Given the description of an element on the screen output the (x, y) to click on. 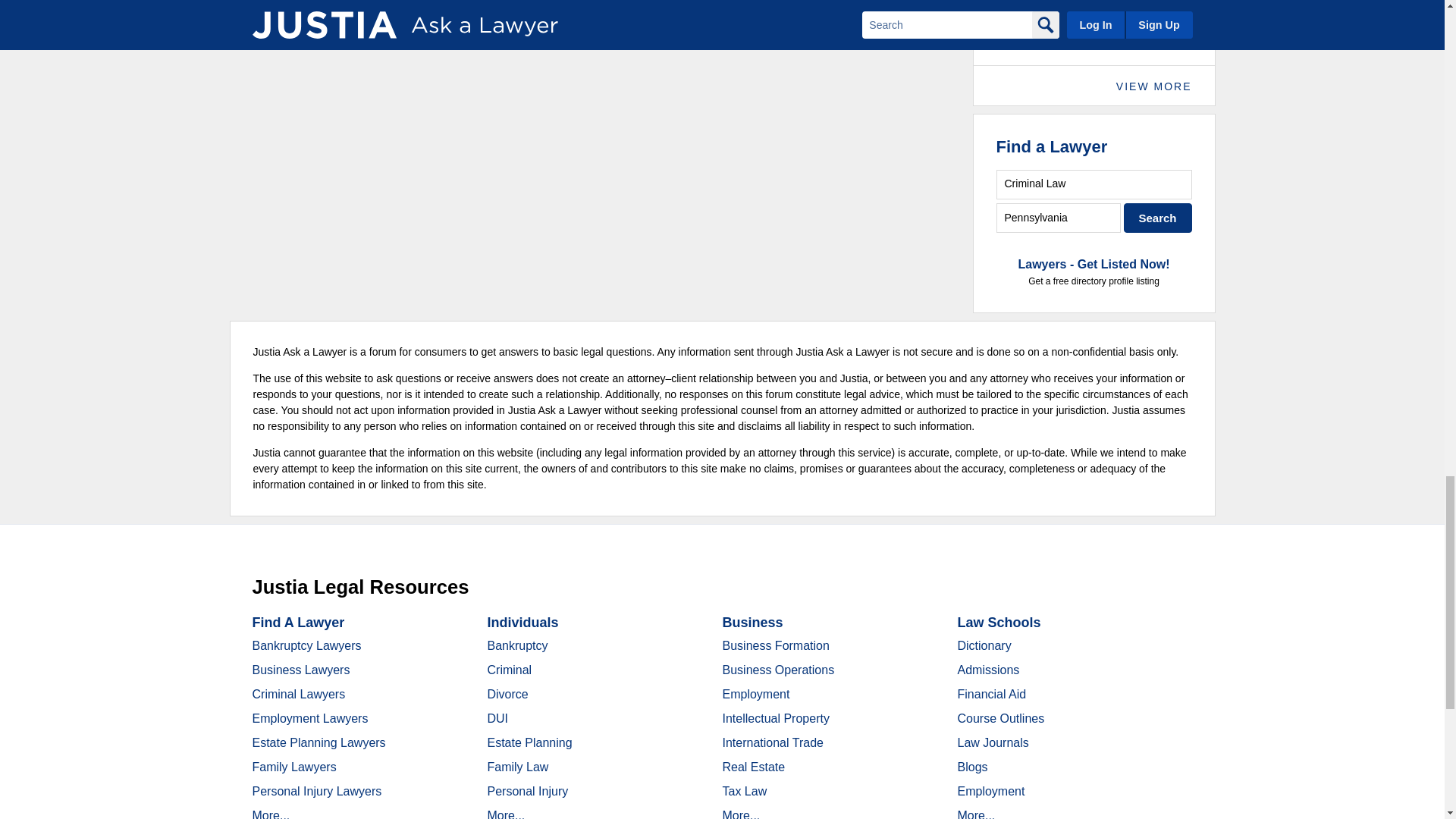
Search (1158, 217)
Pennsylvania (1058, 217)
City, State (1058, 217)
Legal Issue or Lawyer Name (1093, 184)
Search (1158, 217)
Ask a Lawyer - Leaderboard - Lawyer Photo (1021, 22)
Ask a Lawyer - Leaderboard - Lawyer Stats (1127, 15)
Criminal Law (1093, 184)
